Given the description of an element on the screen output the (x, y) to click on. 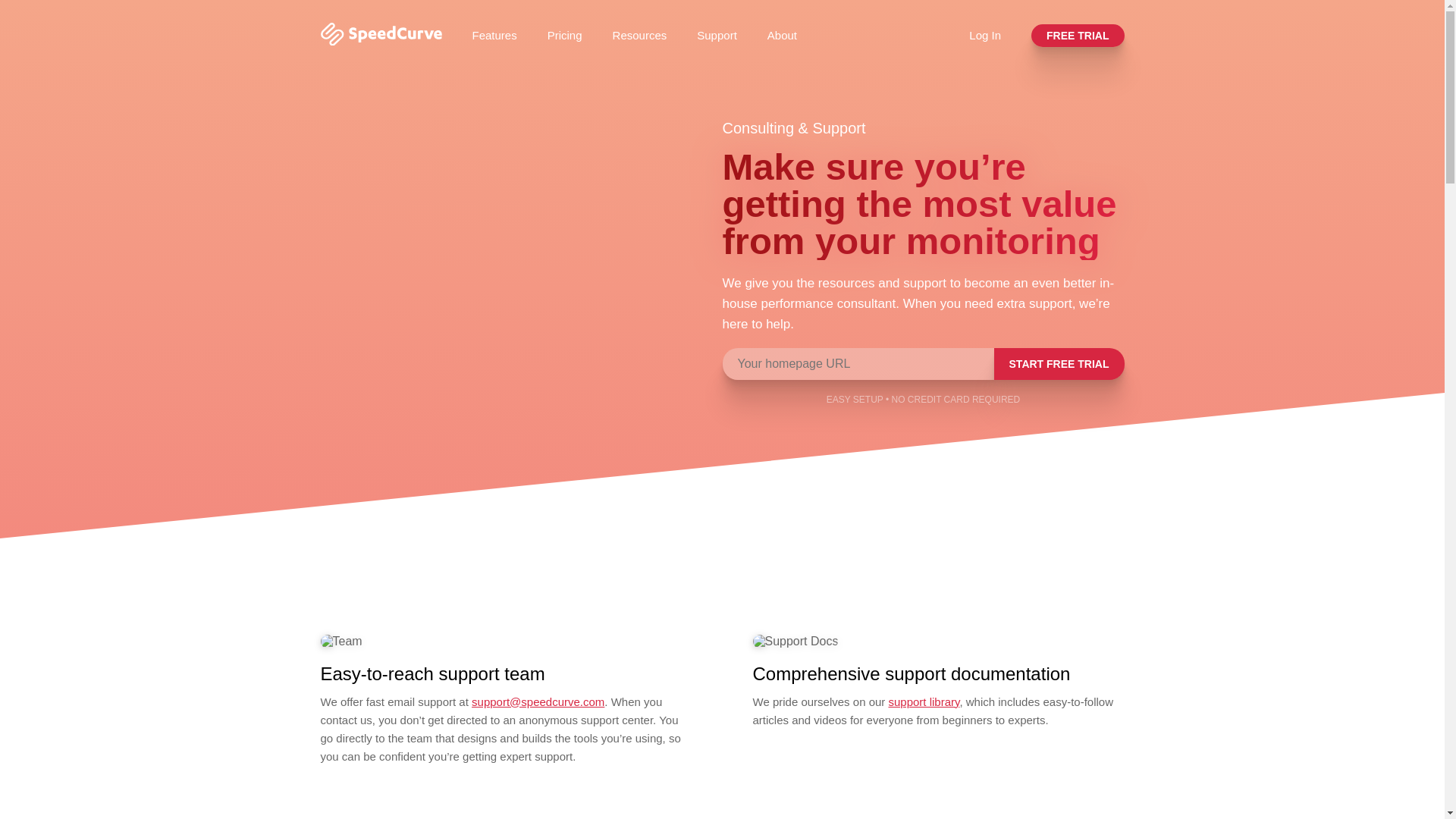
Log In (985, 34)
FREE TRIAL (1077, 35)
SpeedCurve (380, 41)
support library (923, 701)
Start free trial (1059, 364)
Start free trial (1059, 364)
